Given the description of an element on the screen output the (x, y) to click on. 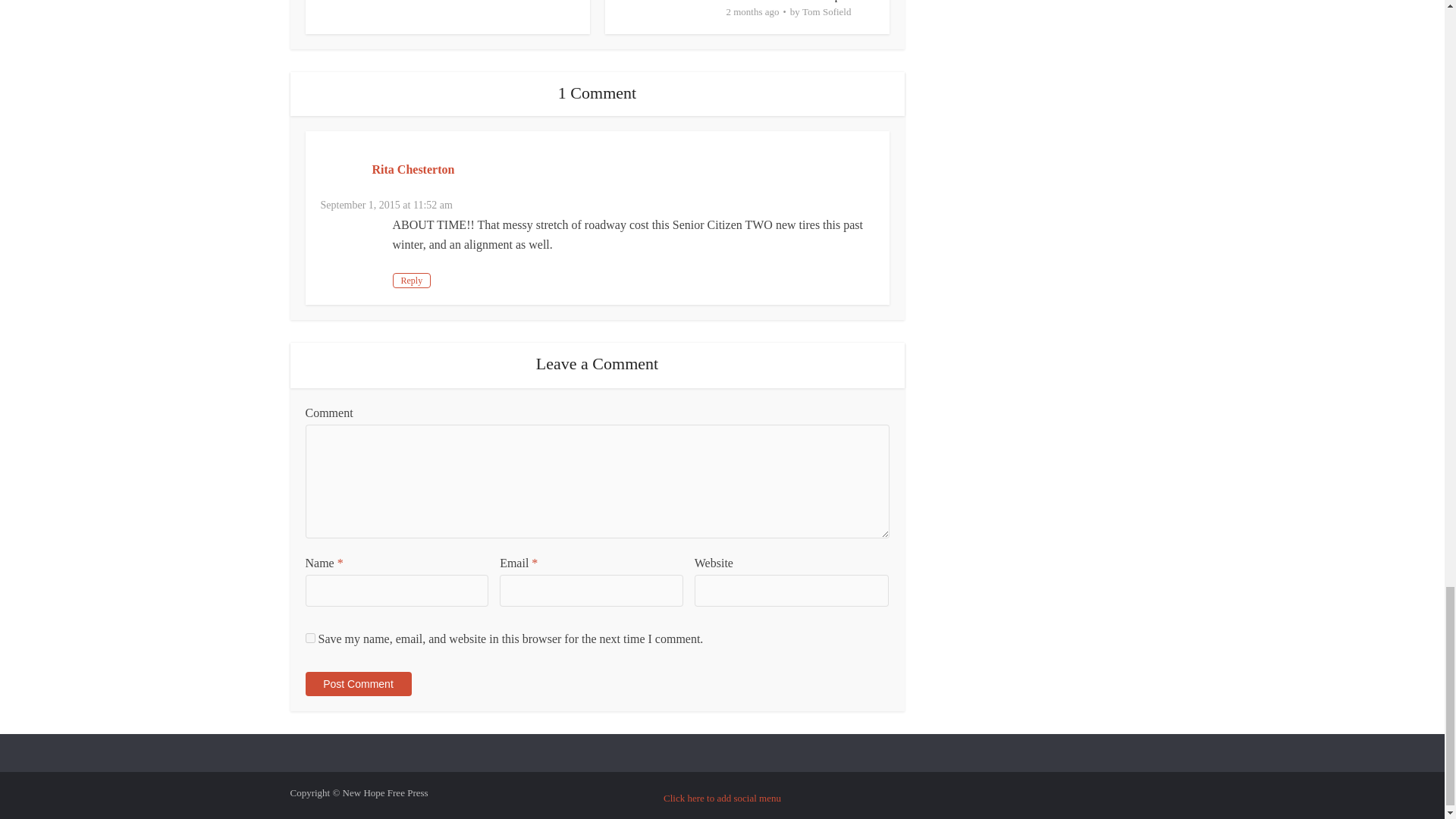
Post Comment (357, 683)
yes (309, 637)
